Given the description of an element on the screen output the (x, y) to click on. 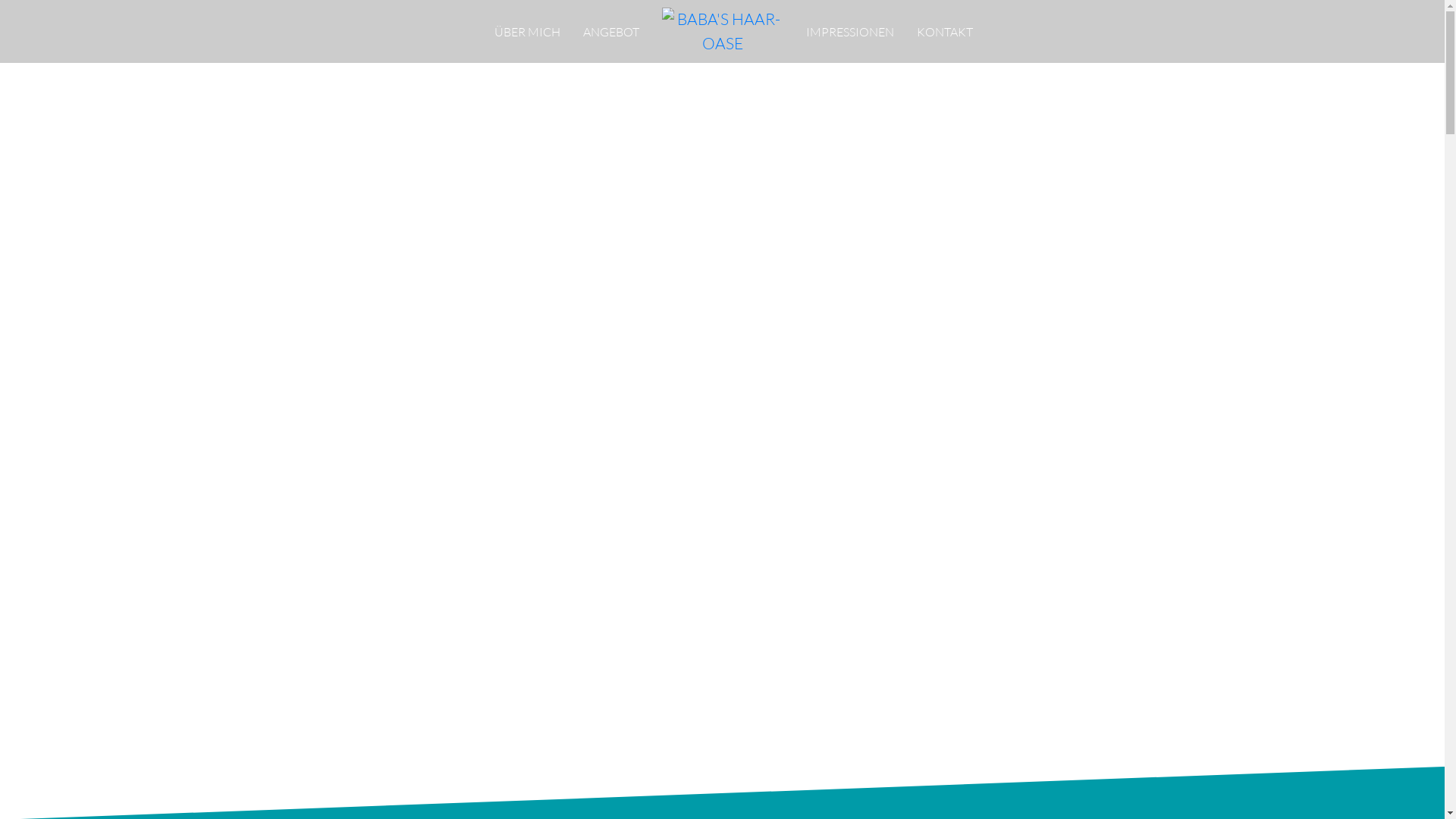
IMPRESSIONEN Element type: text (849, 31)
ANGEBOT Element type: text (610, 31)
KONTAKT Element type: text (944, 31)
